Given the description of an element on the screen output the (x, y) to click on. 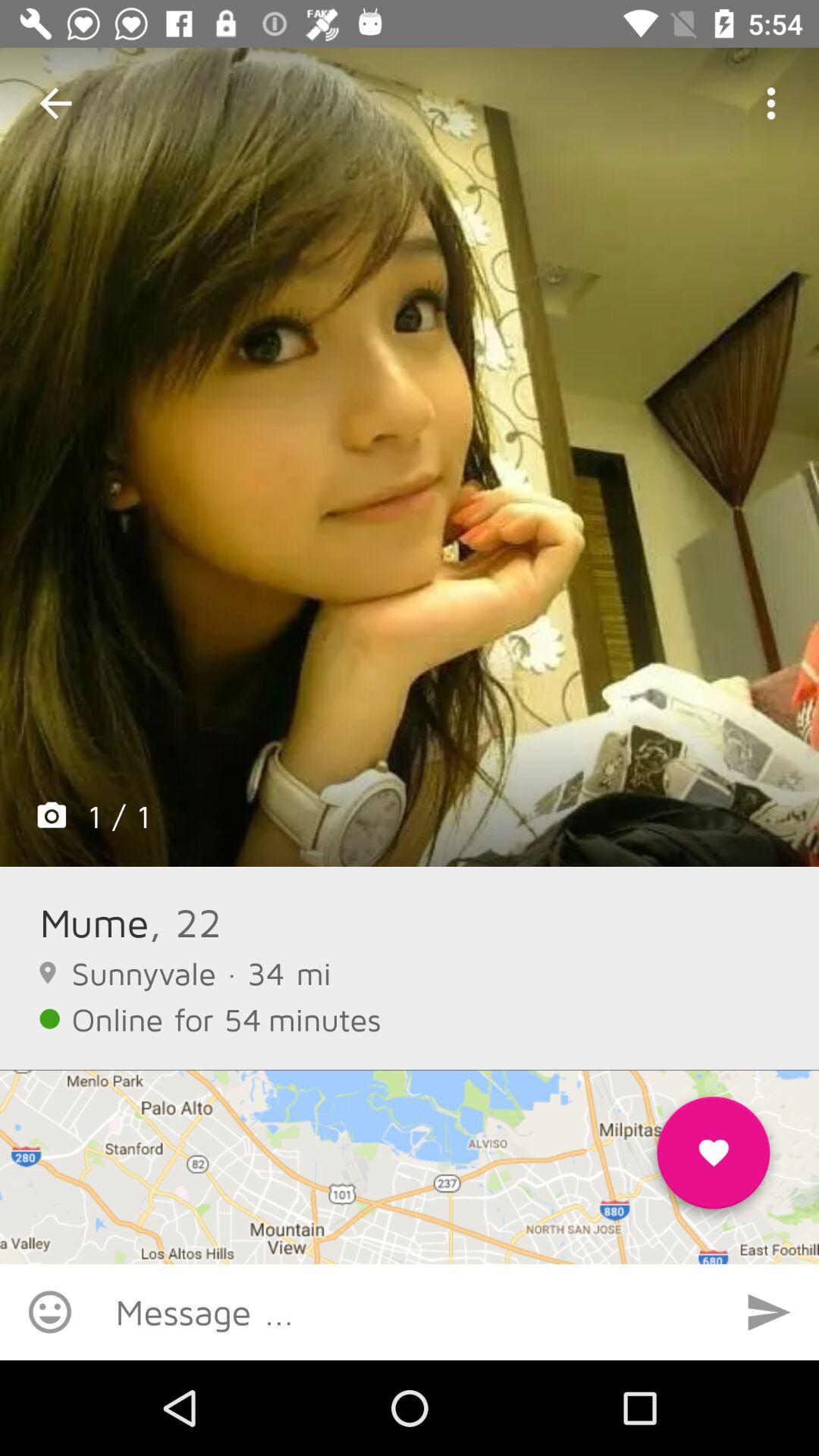
turn off the item at the top left corner (55, 103)
